Given the description of an element on the screen output the (x, y) to click on. 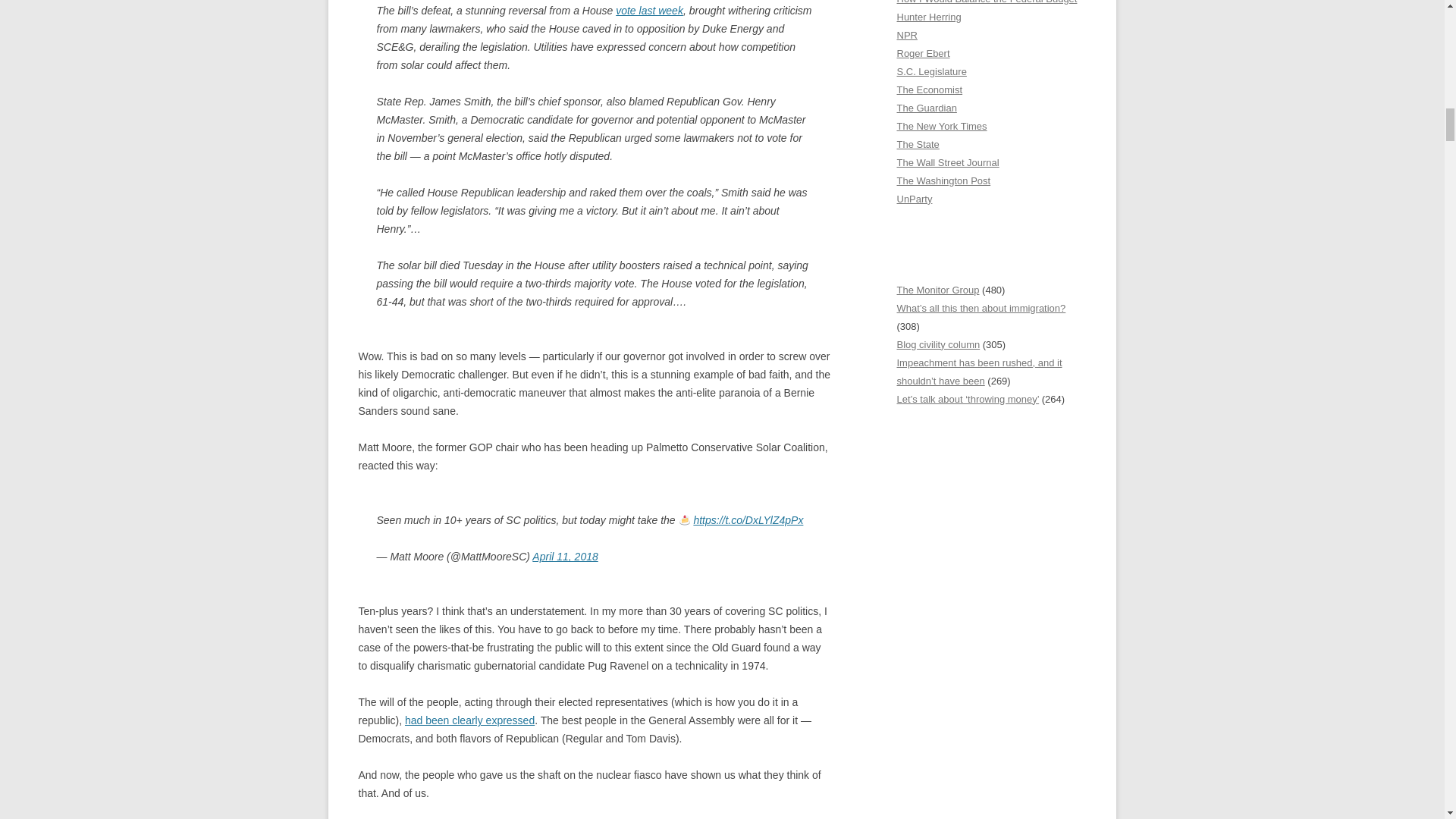
had been clearly expressed (469, 720)
vote last week (648, 10)
April 11, 2018 (564, 556)
